Given the description of an element on the screen output the (x, y) to click on. 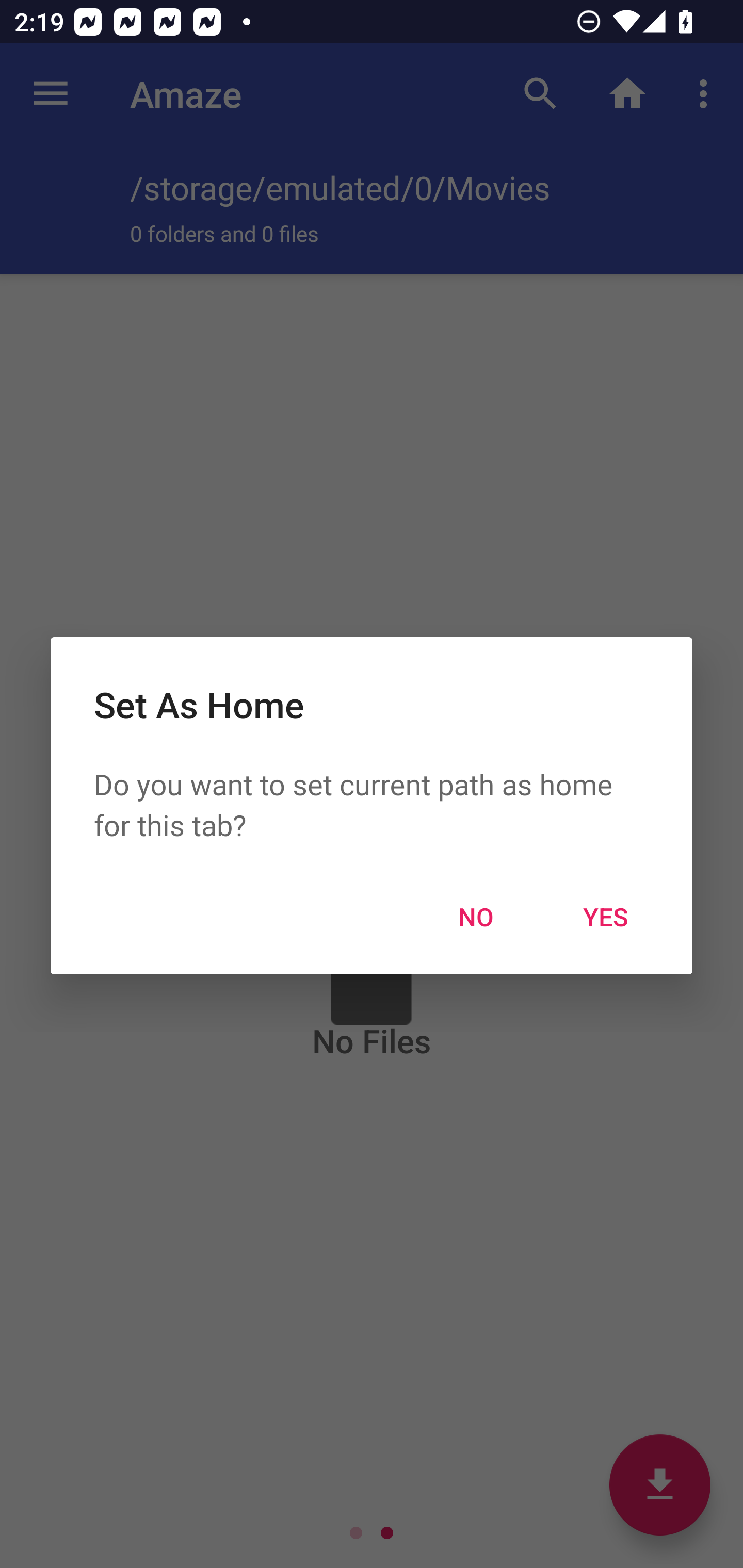
NO (475, 916)
YES (605, 916)
